Given the description of an element on the screen output the (x, y) to click on. 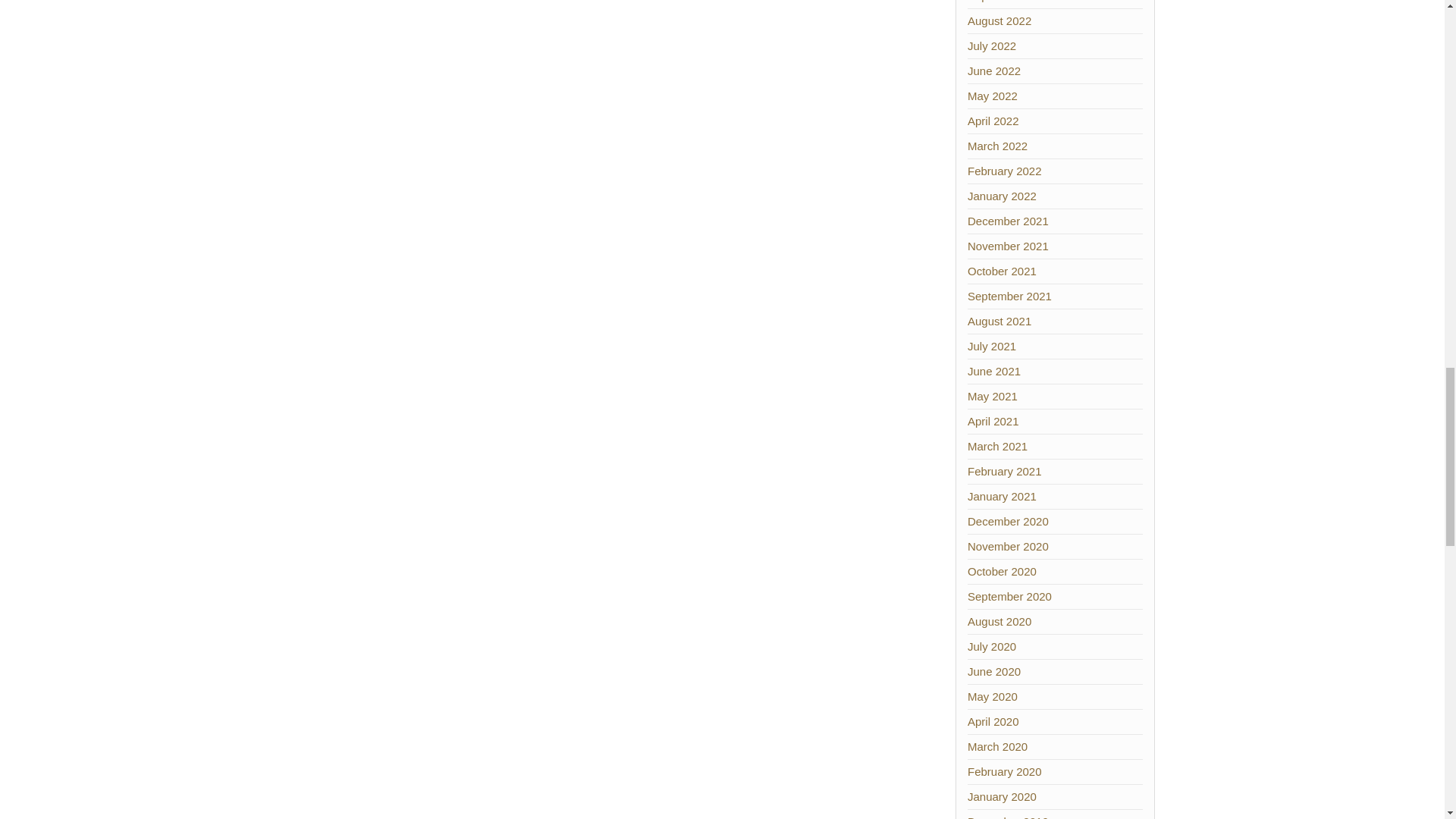
June 2022 (994, 70)
August 2022 (999, 20)
April 2022 (993, 120)
May 2022 (992, 95)
September 2022 (1009, 1)
July 2022 (992, 45)
